Given the description of an element on the screen output the (x, y) to click on. 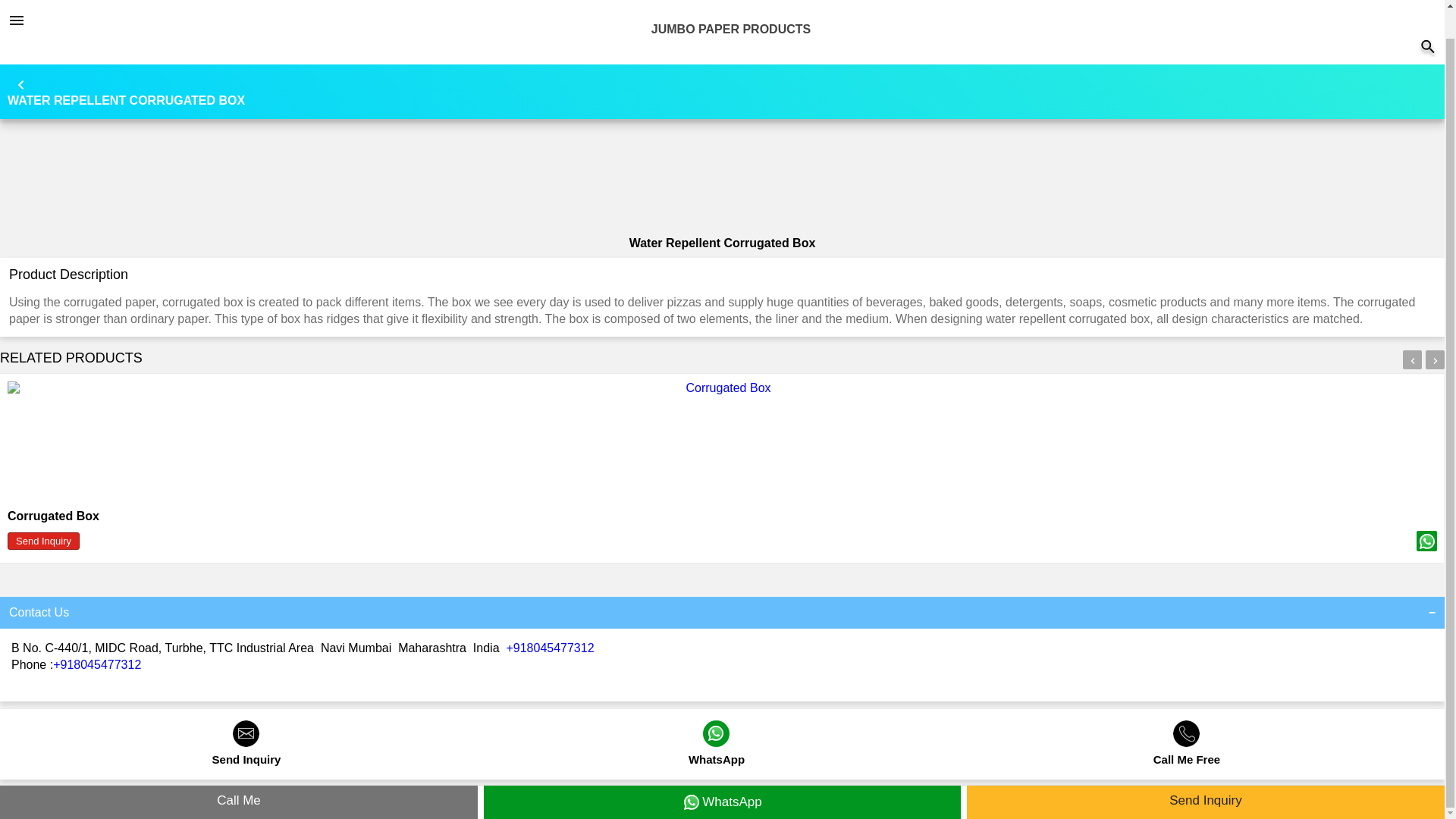
Send Inquiry (246, 752)
Send Inquiry (43, 540)
Corrugated Box (53, 515)
Call Me Free (1187, 752)
WhatsApp (716, 752)
Call Me (238, 773)
